Given the description of an element on the screen output the (x, y) to click on. 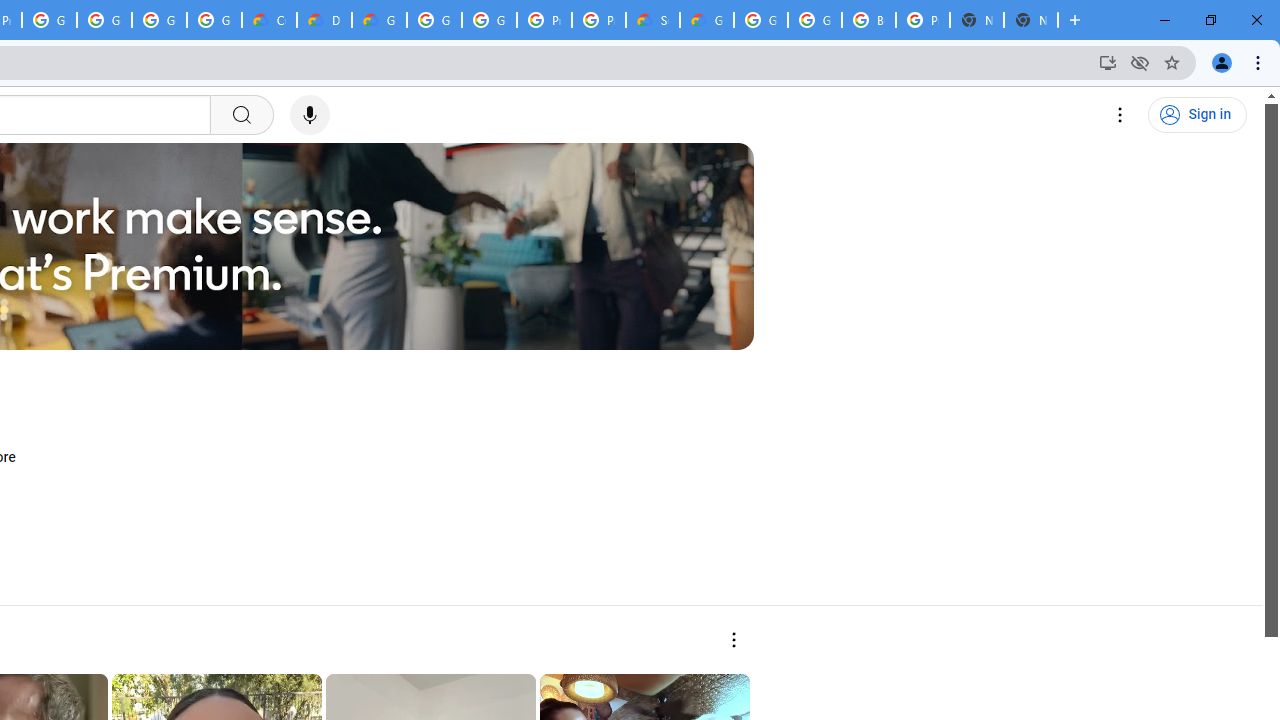
Google Cloud Platform (434, 20)
Support Hub | Google Cloud (652, 20)
More actions (732, 639)
Google Cloud Service Health (706, 20)
Gemini for Business and Developers | Google Cloud (379, 20)
Google Cloud Platform (489, 20)
